Given the description of an element on the screen output the (x, y) to click on. 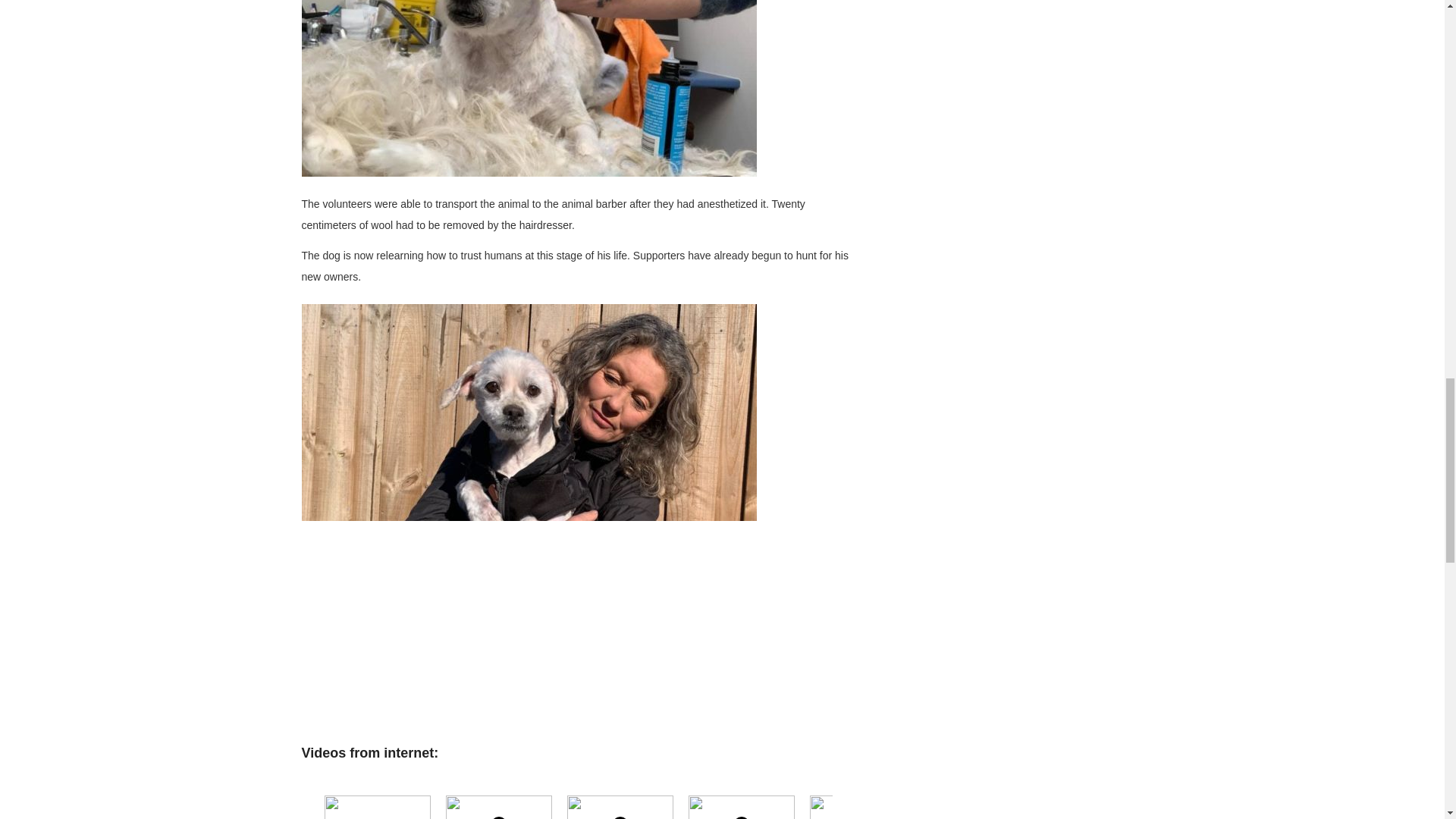
10 Celebrities Who Live In Los Angeles (870, 799)
